Given the description of an element on the screen output the (x, y) to click on. 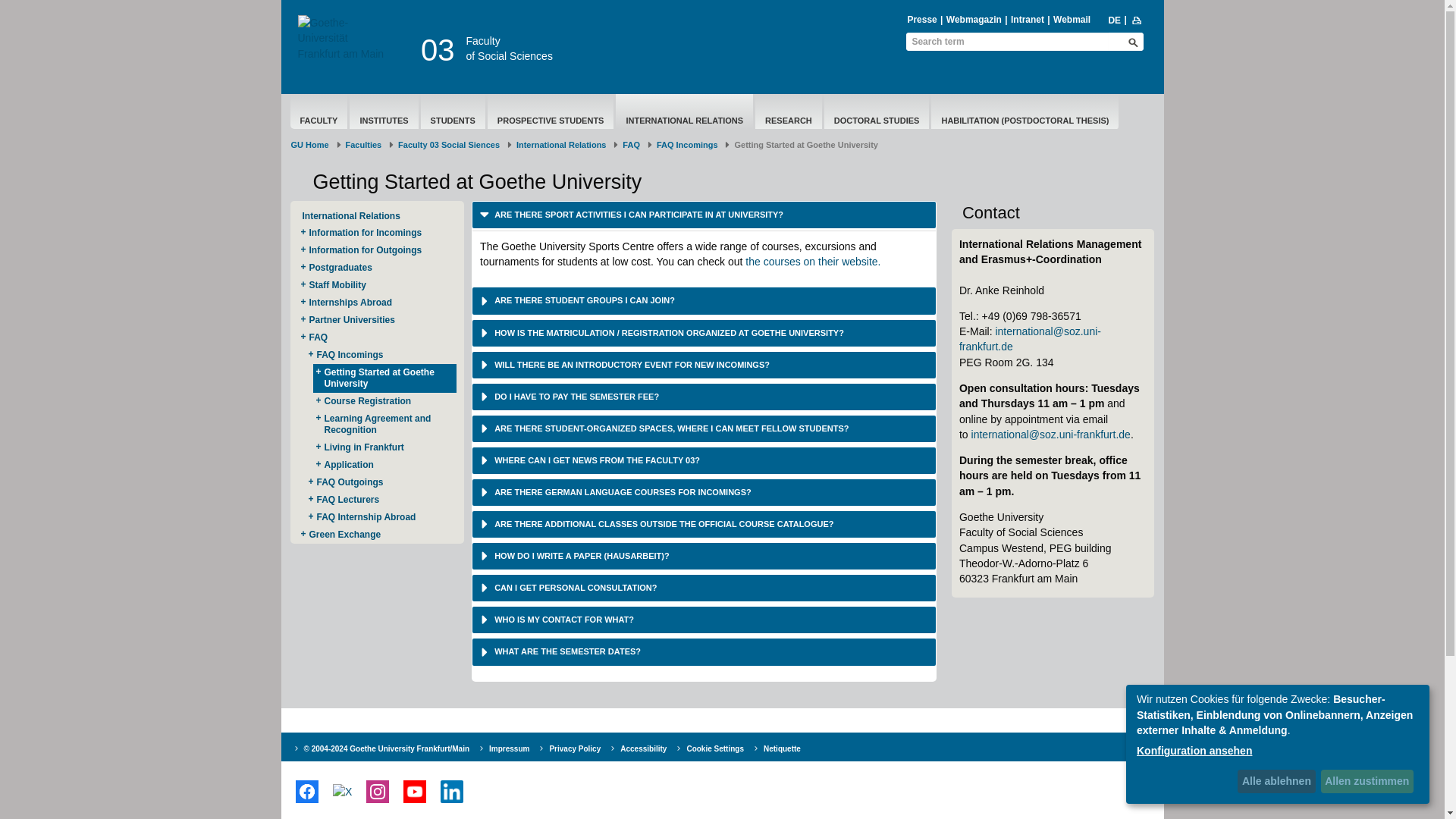
print page (1136, 20)
zur deutschen Seite (1113, 20)
Faculty 03 - of Social Sciences (509, 48)
Start Search (1132, 42)
